Given the description of an element on the screen output the (x, y) to click on. 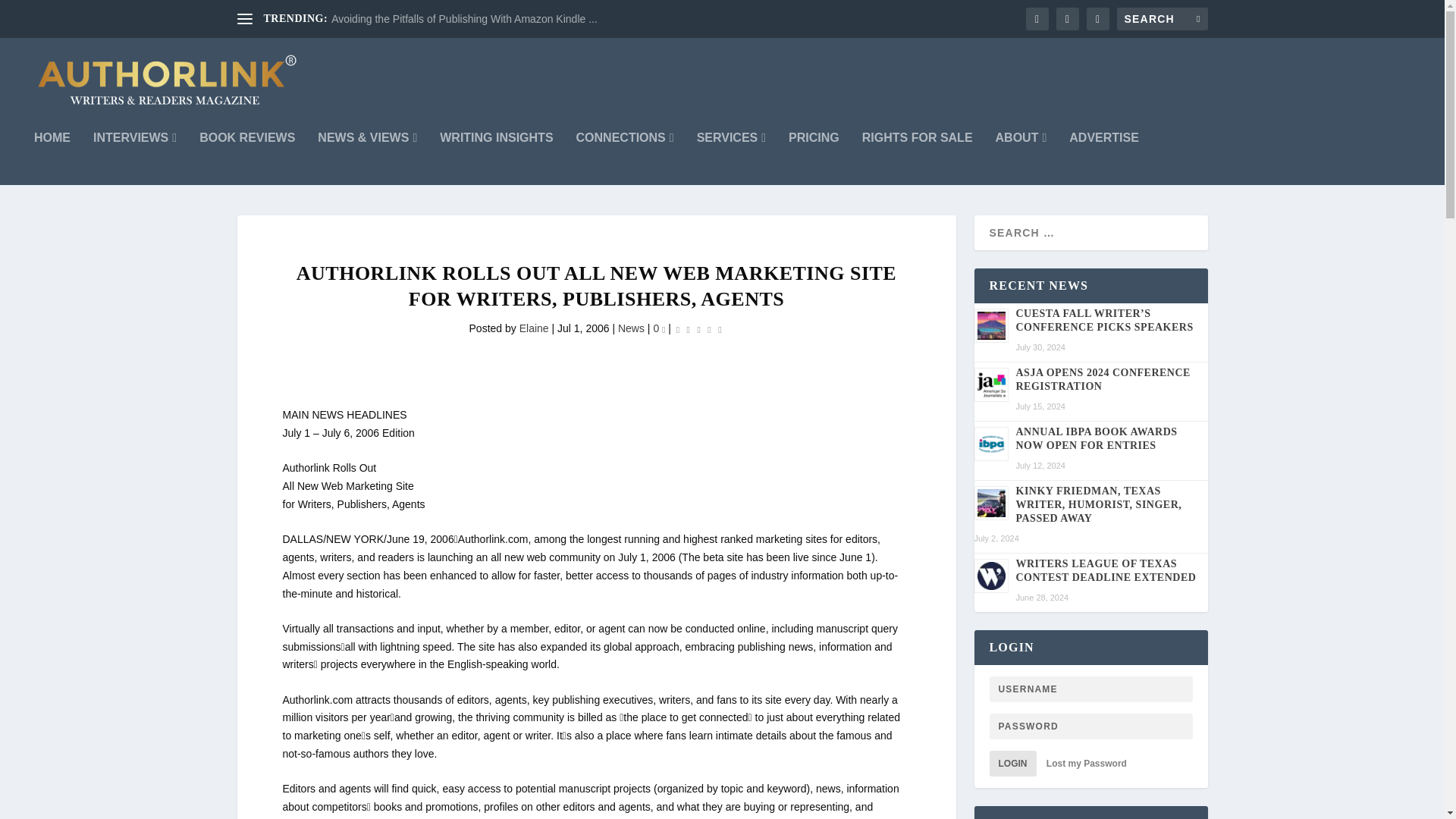
Avoiding the Pitfalls of Publishing With Amazon Kindle ... (463, 19)
SERVICES (731, 158)
PRICING (814, 158)
INTERVIEWS (134, 158)
BOOK REVIEWS (247, 158)
Rating: 0.00 (698, 329)
Search for: (1161, 18)
Posts by Elaine (533, 328)
CONNECTIONS (625, 158)
RIGHTS FOR SALE (916, 158)
